Given the description of an element on the screen output the (x, y) to click on. 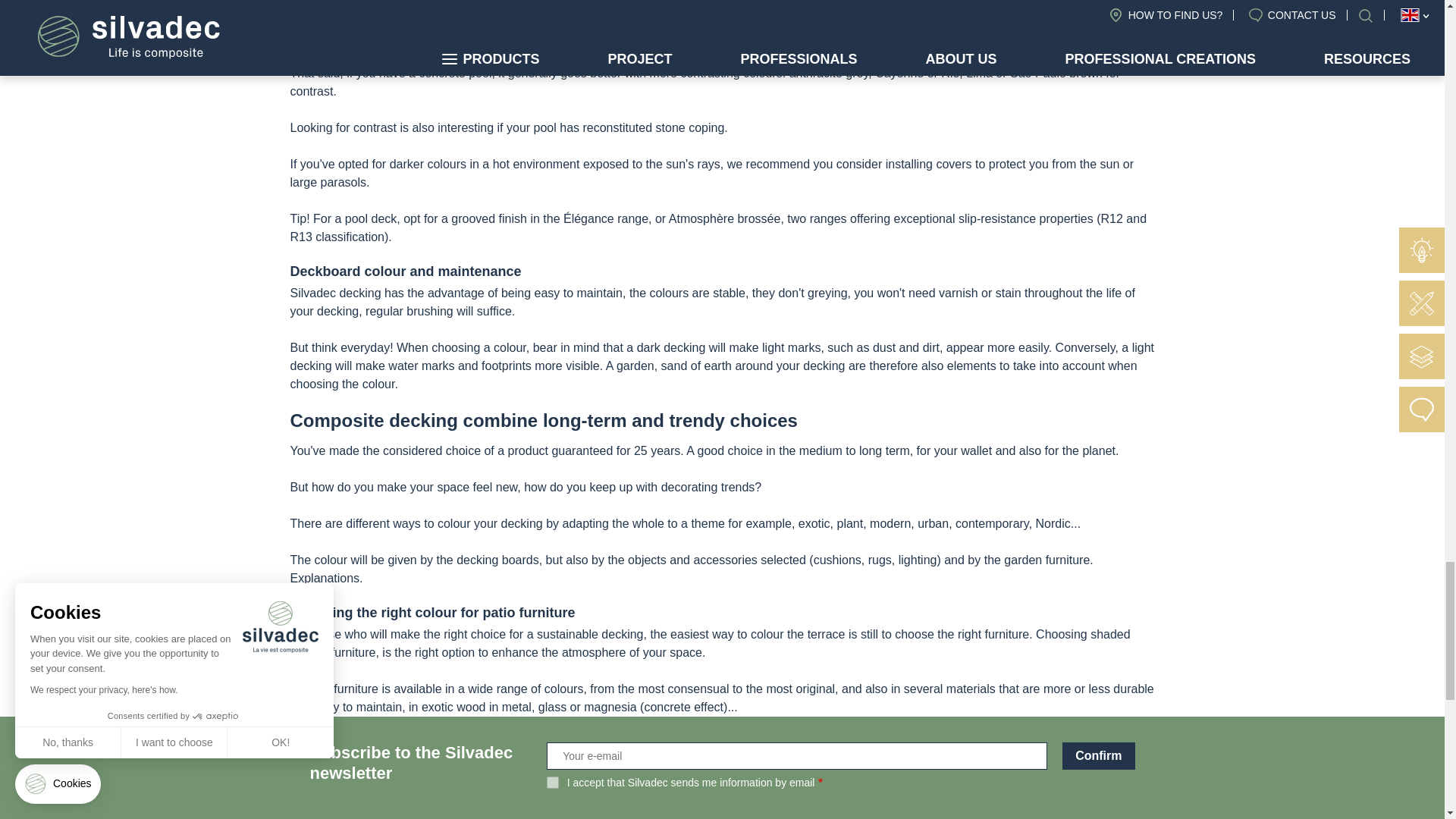
1 (553, 782)
Confirm (1098, 755)
